Given the description of an element on the screen output the (x, y) to click on. 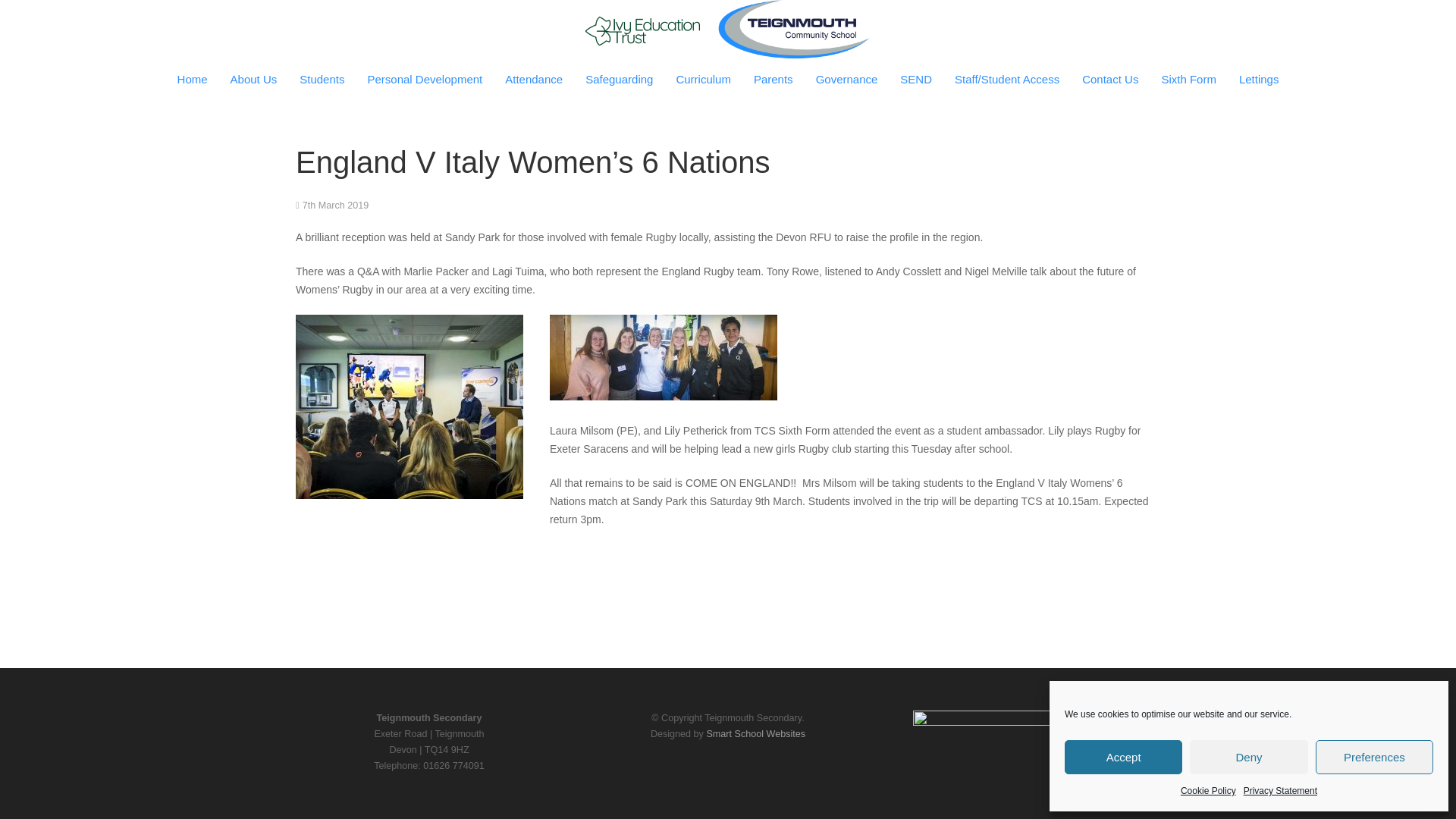
Deny (1248, 756)
About Us (253, 78)
Students (321, 78)
Cookie Policy (1208, 791)
Preferences (1374, 756)
Privacy Statement (1280, 791)
Personal Development (424, 78)
Home (192, 78)
Accept (1123, 756)
